Given the description of an element on the screen output the (x, y) to click on. 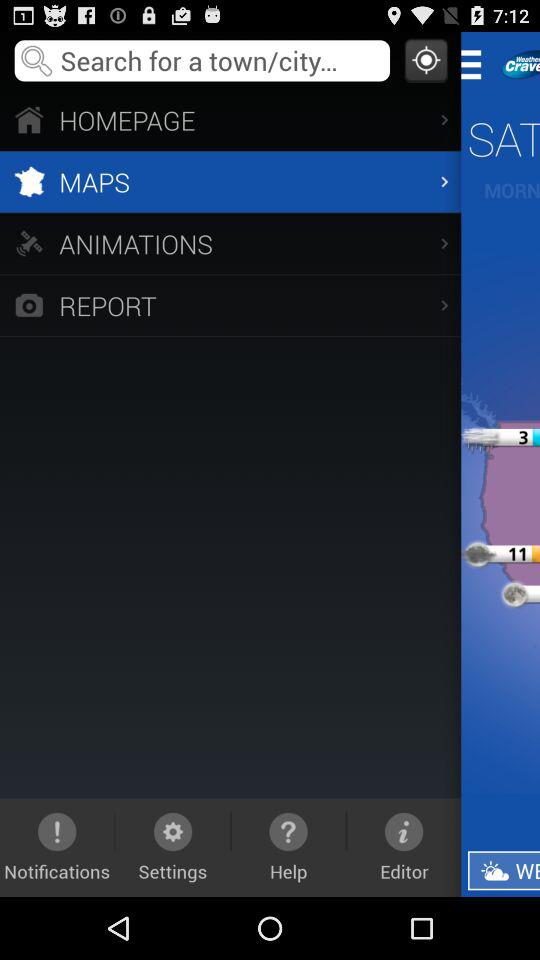
click item next to the homepage item (477, 63)
